Given the description of an element on the screen output the (x, y) to click on. 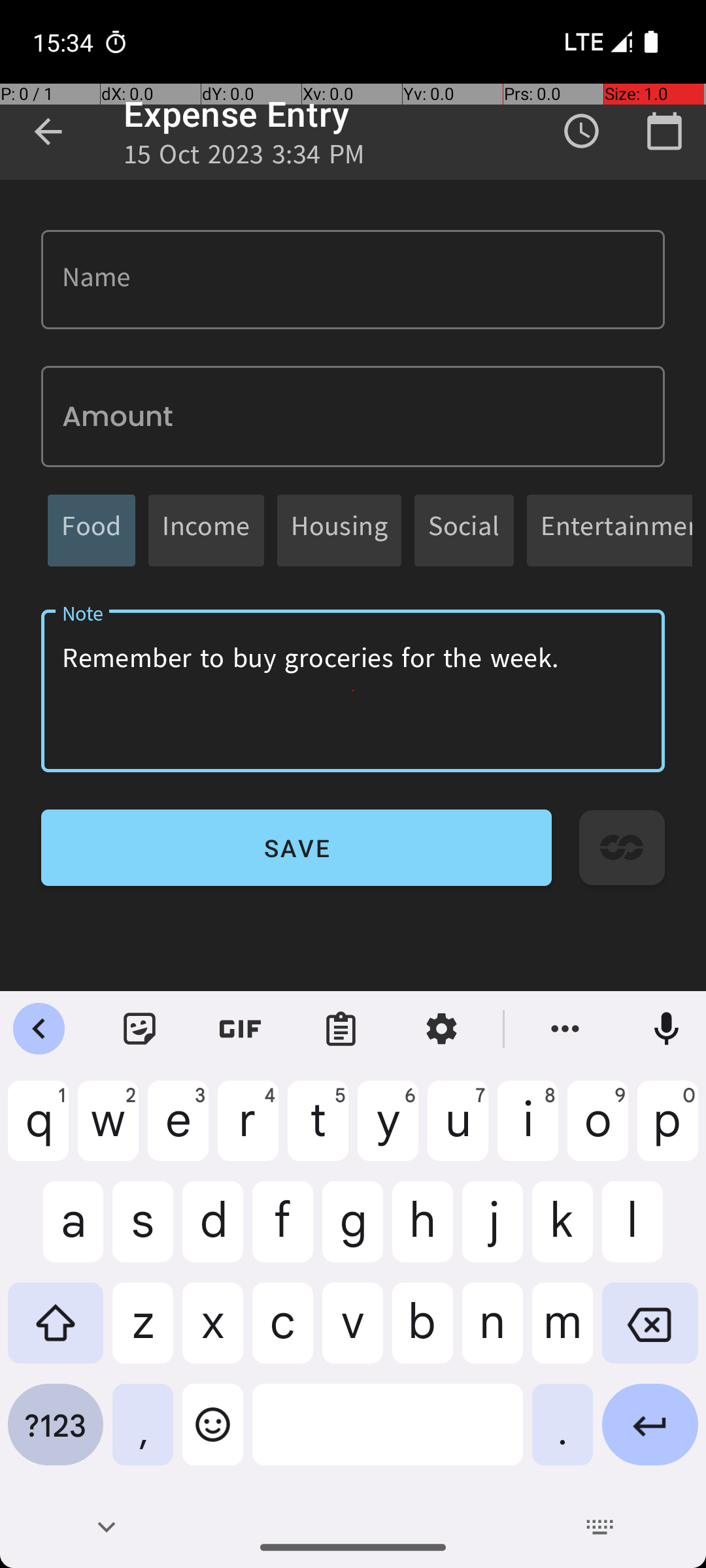
Remember to buy groceries for the week.
 Element type: android.widget.EditText (352, 690)
